Given the description of an element on the screen output the (x, y) to click on. 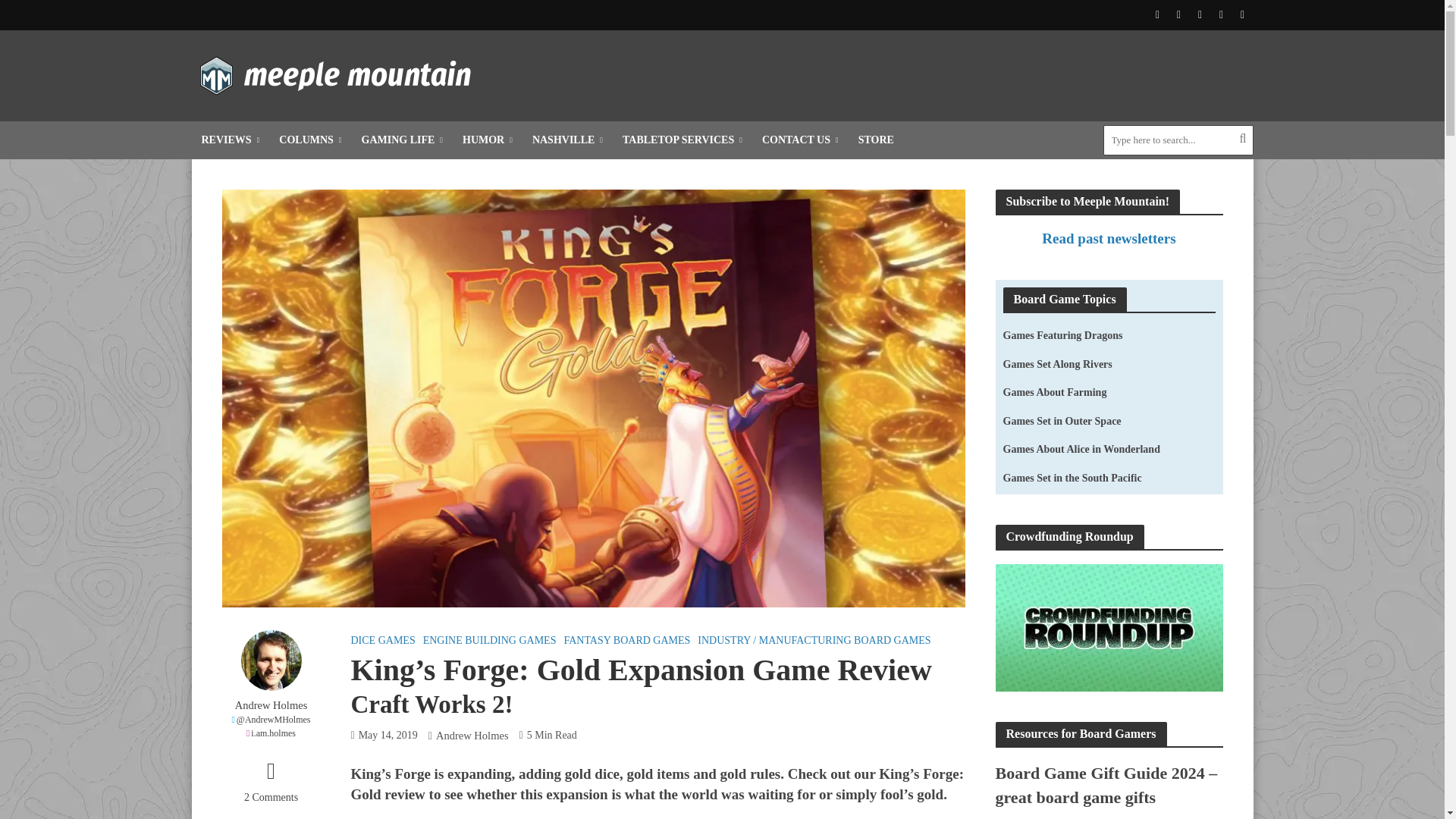
COLUMNS (309, 139)
GAMING LIFE (402, 139)
NASHVILLE (567, 139)
HUMOR (487, 139)
REVIEWS (229, 139)
